Given the description of an element on the screen output the (x, y) to click on. 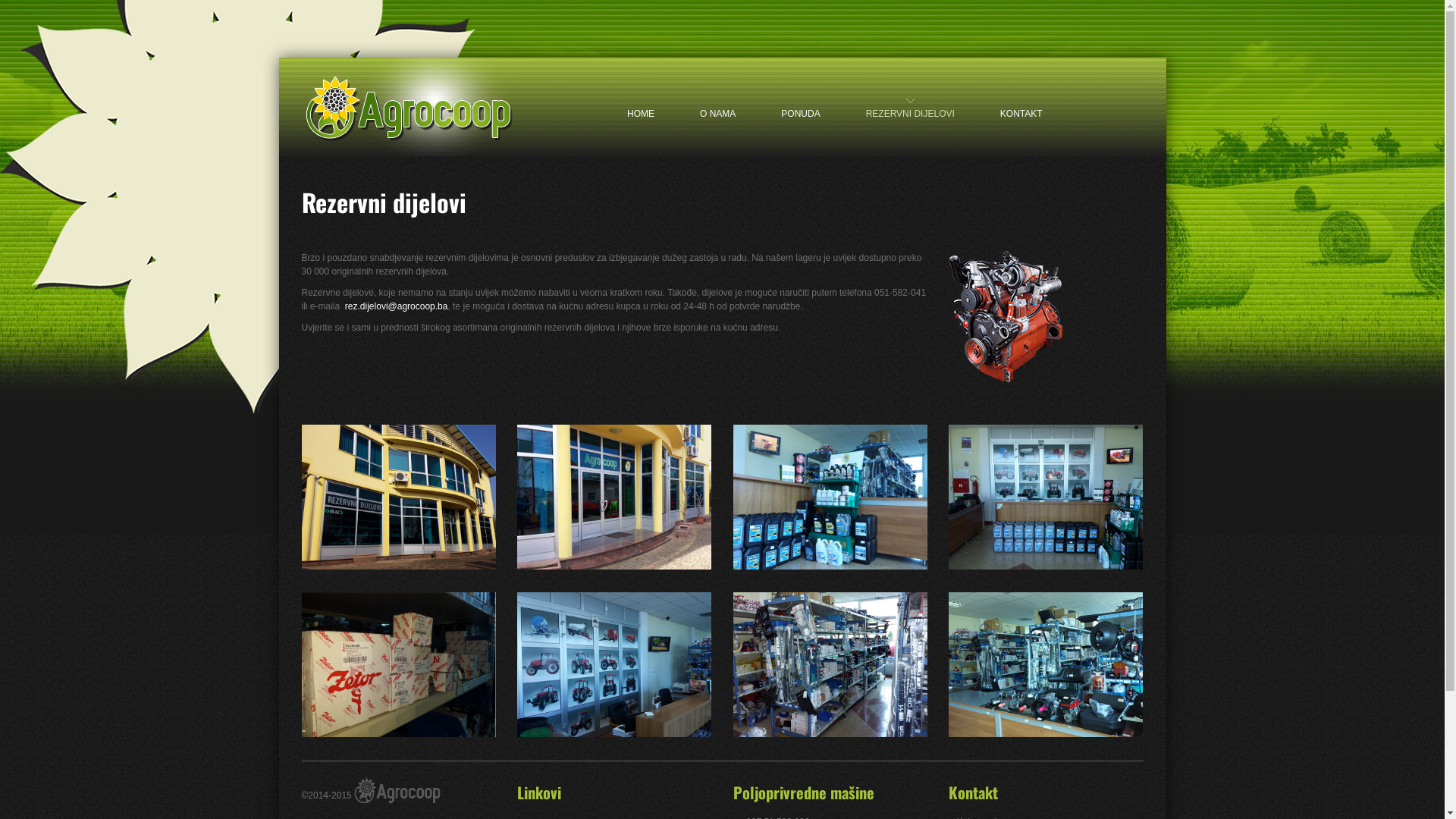
PONUDA Element type: text (800, 100)
O NAMA Element type: text (717, 100)
HOME Element type: text (640, 100)
REZERVNI DIJELOVI Element type: text (910, 100)
KONTAKT Element type: text (1021, 100)
rez.dijelovi@agrocoop.ba Element type: text (396, 306)
